Given the description of an element on the screen output the (x, y) to click on. 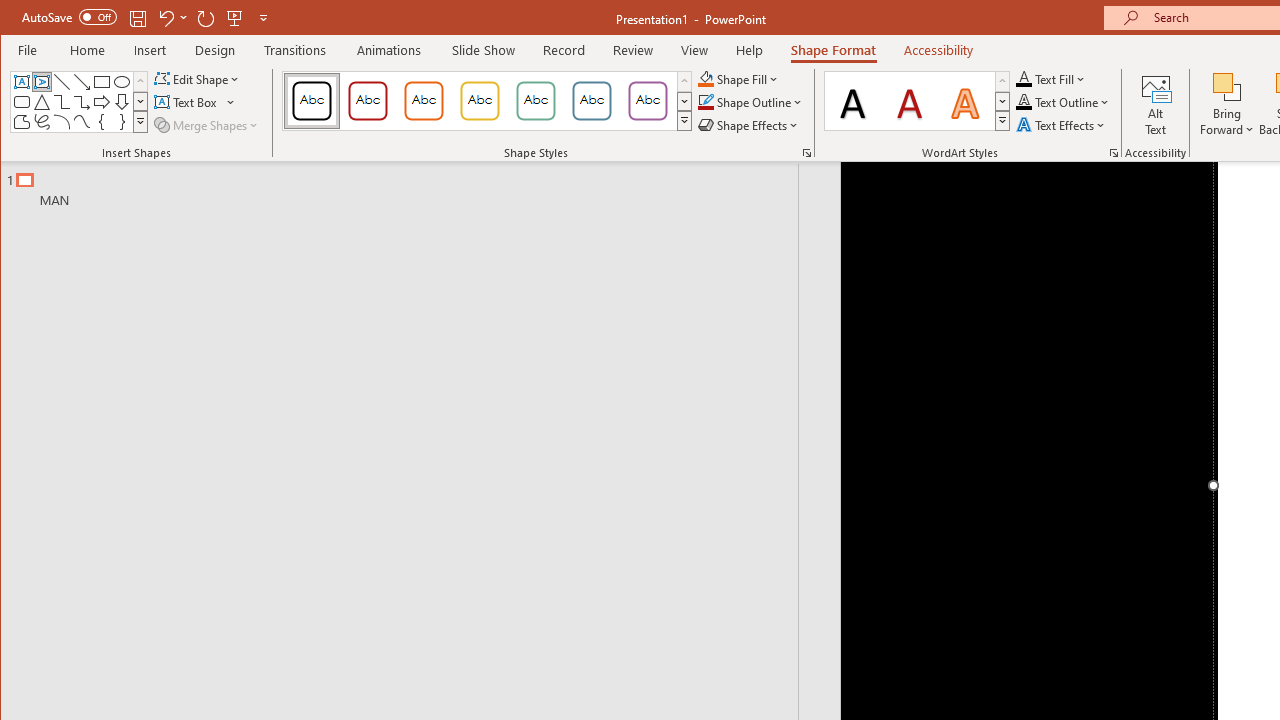
AutomationID: ShapeStylesGallery (488, 101)
Edit Shape (198, 78)
Colored Outline - Dark Red, Accent 1 (367, 100)
Merge Shapes (207, 124)
Fill: Black, Text color 1; Shadow (853, 100)
Draw Horizontal Text Box (187, 101)
